Given the description of an element on the screen output the (x, y) to click on. 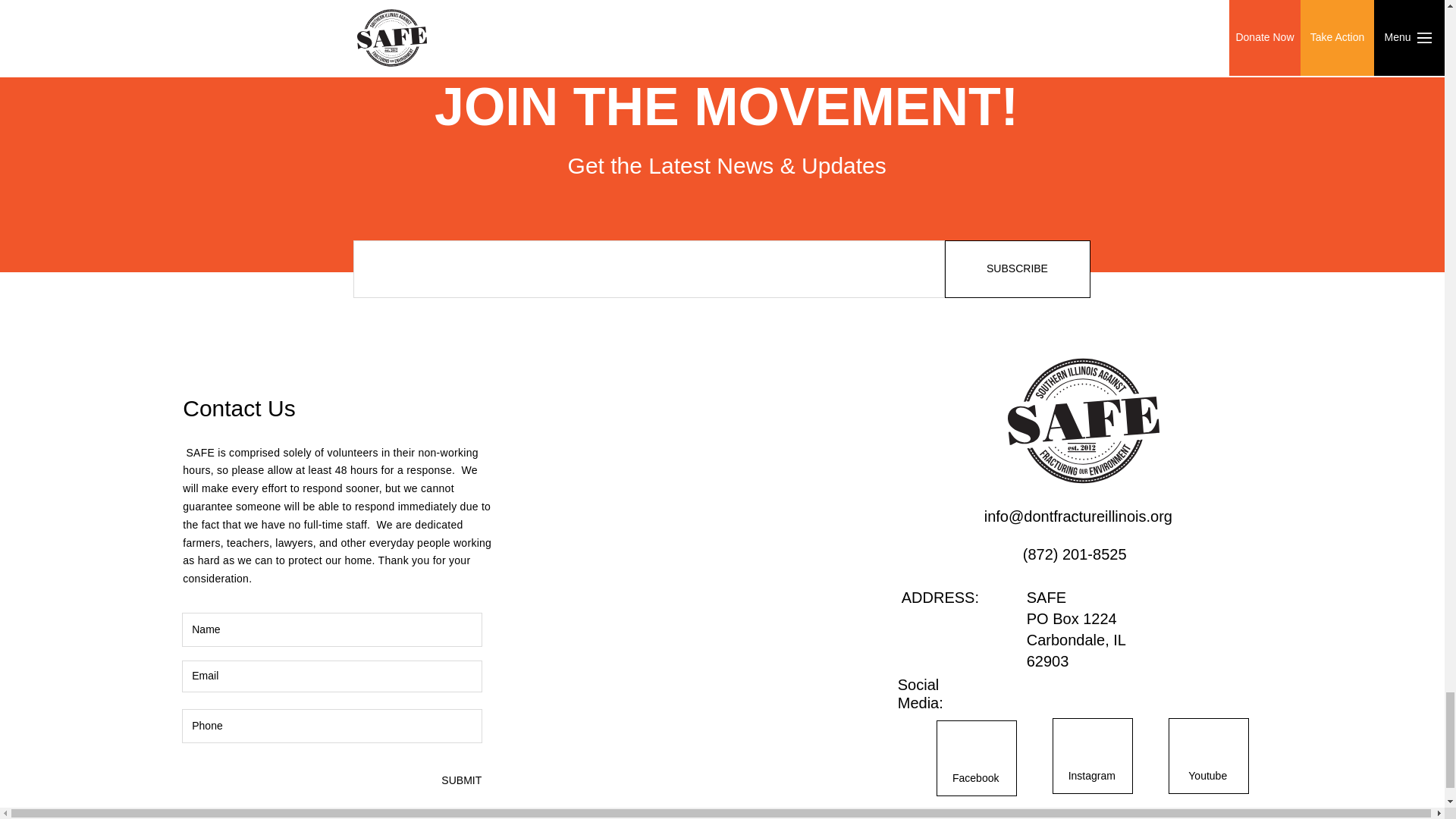
Instagram (1091, 776)
Facebook (975, 778)
SUBSCRIBE (1017, 269)
SUBMIT (460, 780)
